Given the description of an element on the screen output the (x, y) to click on. 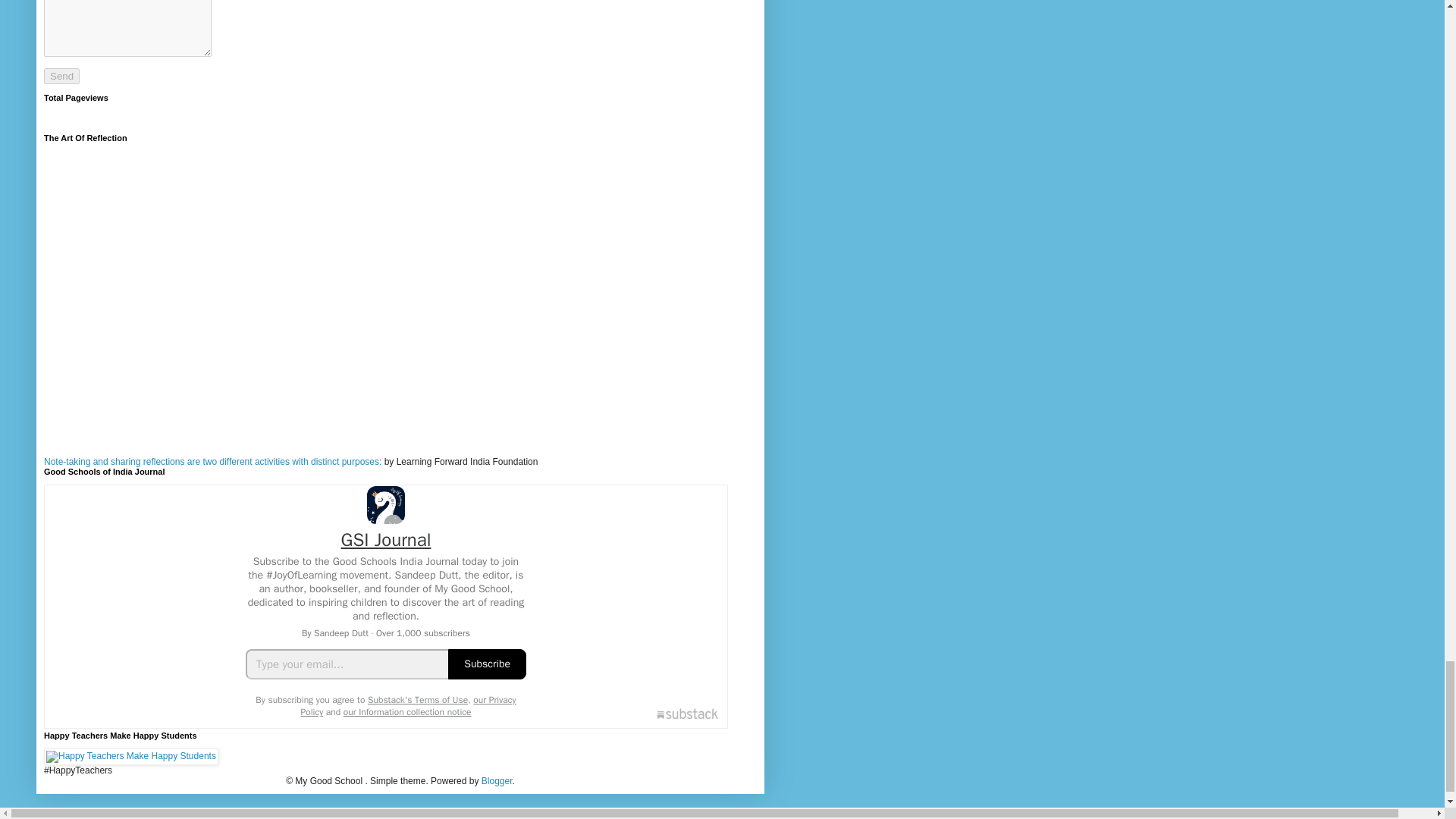
Send (61, 75)
